Given the description of an element on the screen output the (x, y) to click on. 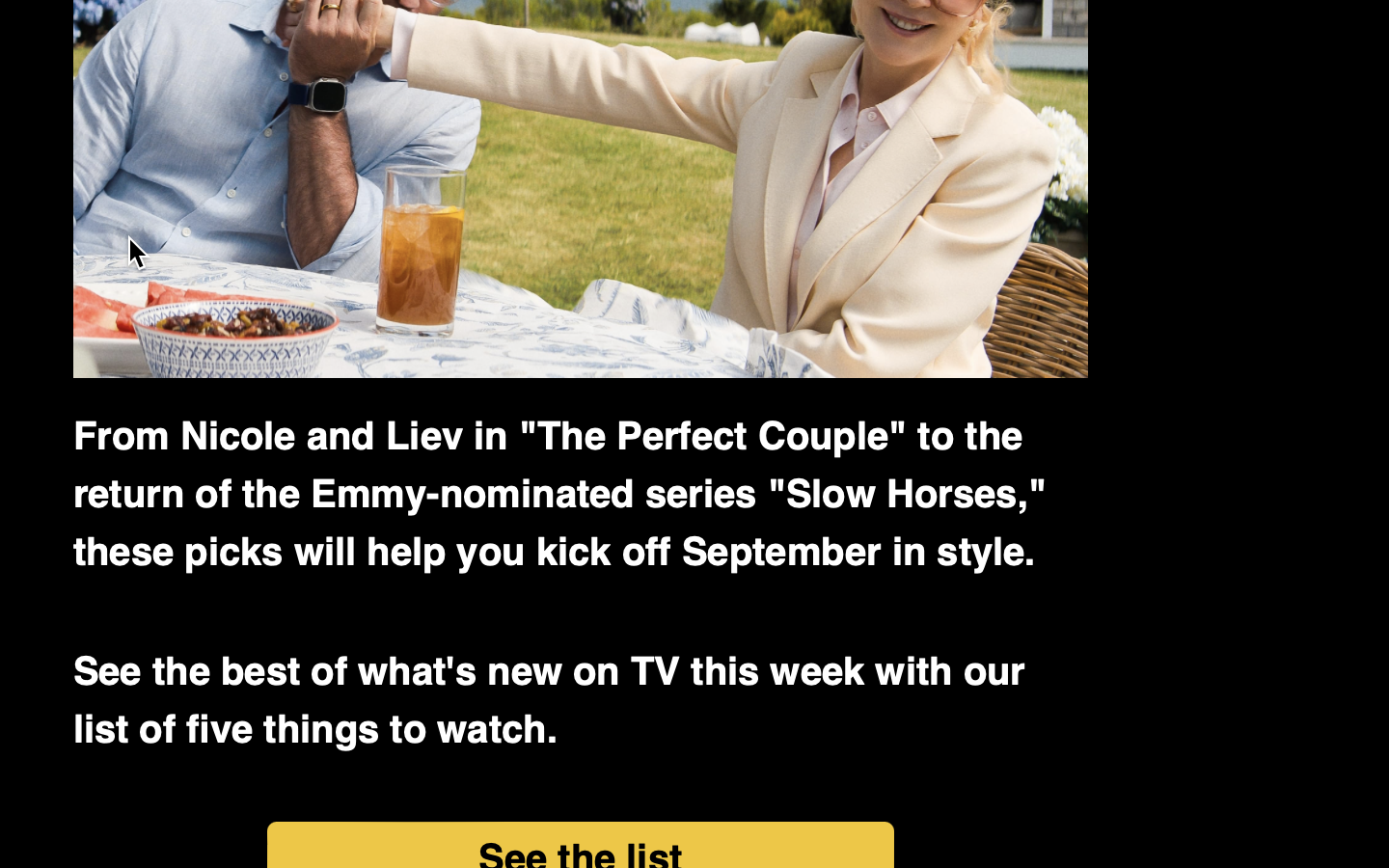
See the best of what's new on TV this week with our list of five things to watch. Element type: AXStaticText (549, 701)
From Nicole and Liev in "The Perfect Couple" to the return of the Emmy-nominated series "Slow Horses," these picks will help you kick off September in style. Element type: AXStaticText (560, 494)
